Given the description of an element on the screen output the (x, y) to click on. 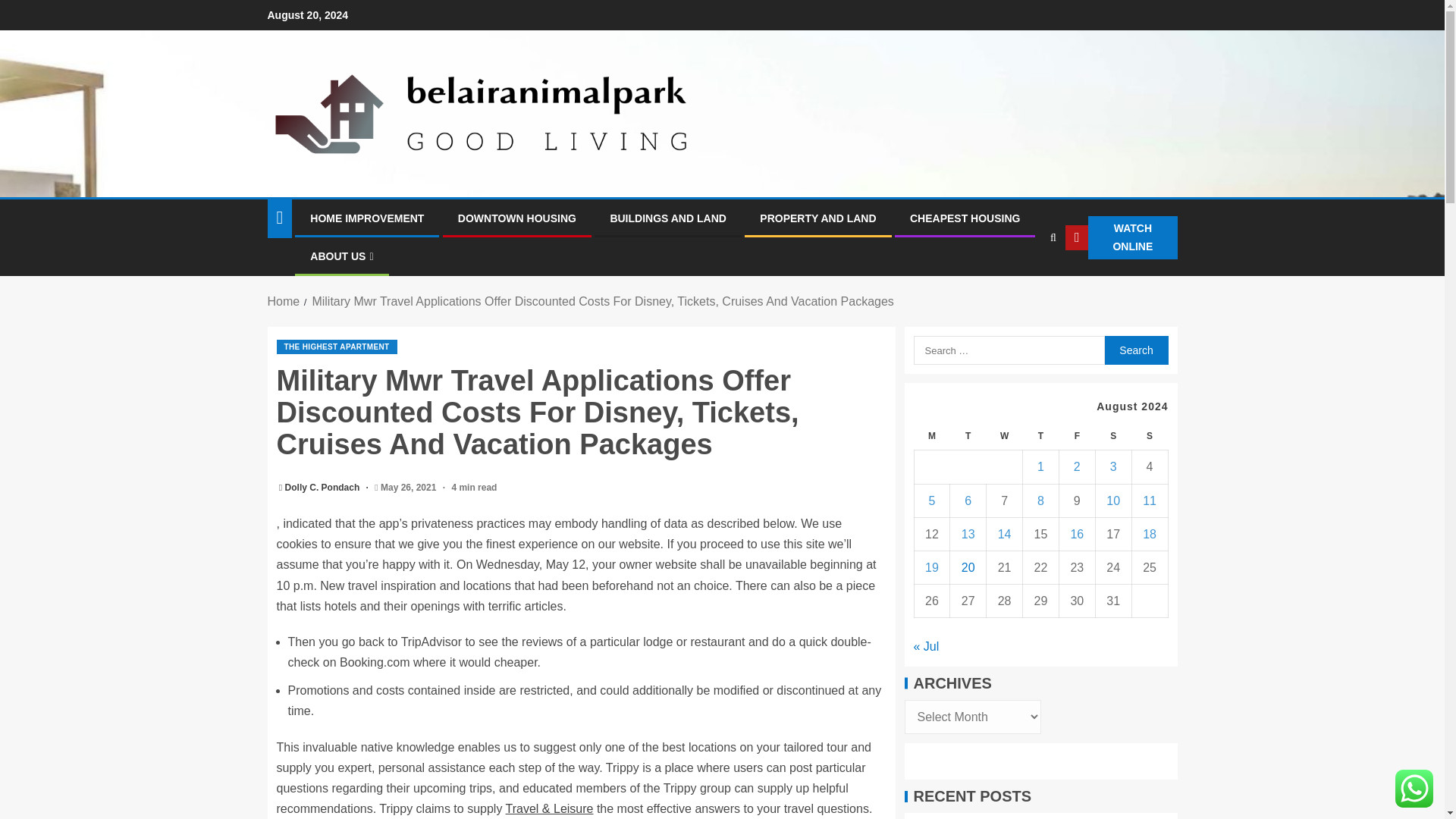
Thursday (1041, 436)
Search (1135, 349)
Tuesday (968, 436)
Monday (932, 436)
Search (1022, 284)
HOME IMPROVEMENT (366, 218)
Friday (1076, 436)
THE HIGHEST APARTMENT (336, 346)
Dolly C. Pondach (323, 487)
